Given the description of an element on the screen output the (x, y) to click on. 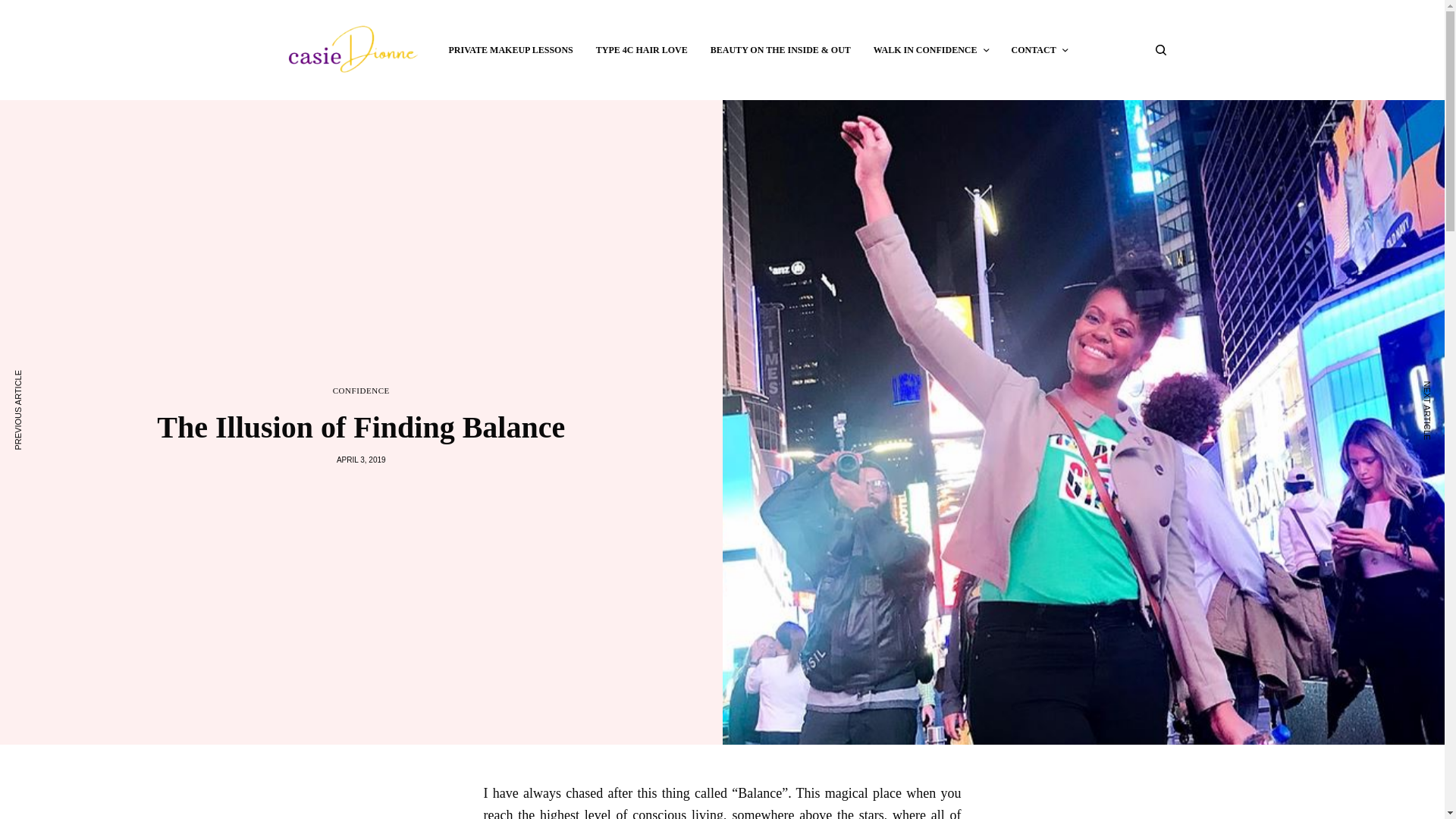
WALK IN CONFIDENCE (930, 49)
TYPE 4C HAIR LOVE (641, 49)
CONFIDENCE (361, 390)
Casie Dionne (350, 49)
PRIVATE MAKEUP LESSONS (510, 49)
